Given the description of an element on the screen output the (x, y) to click on. 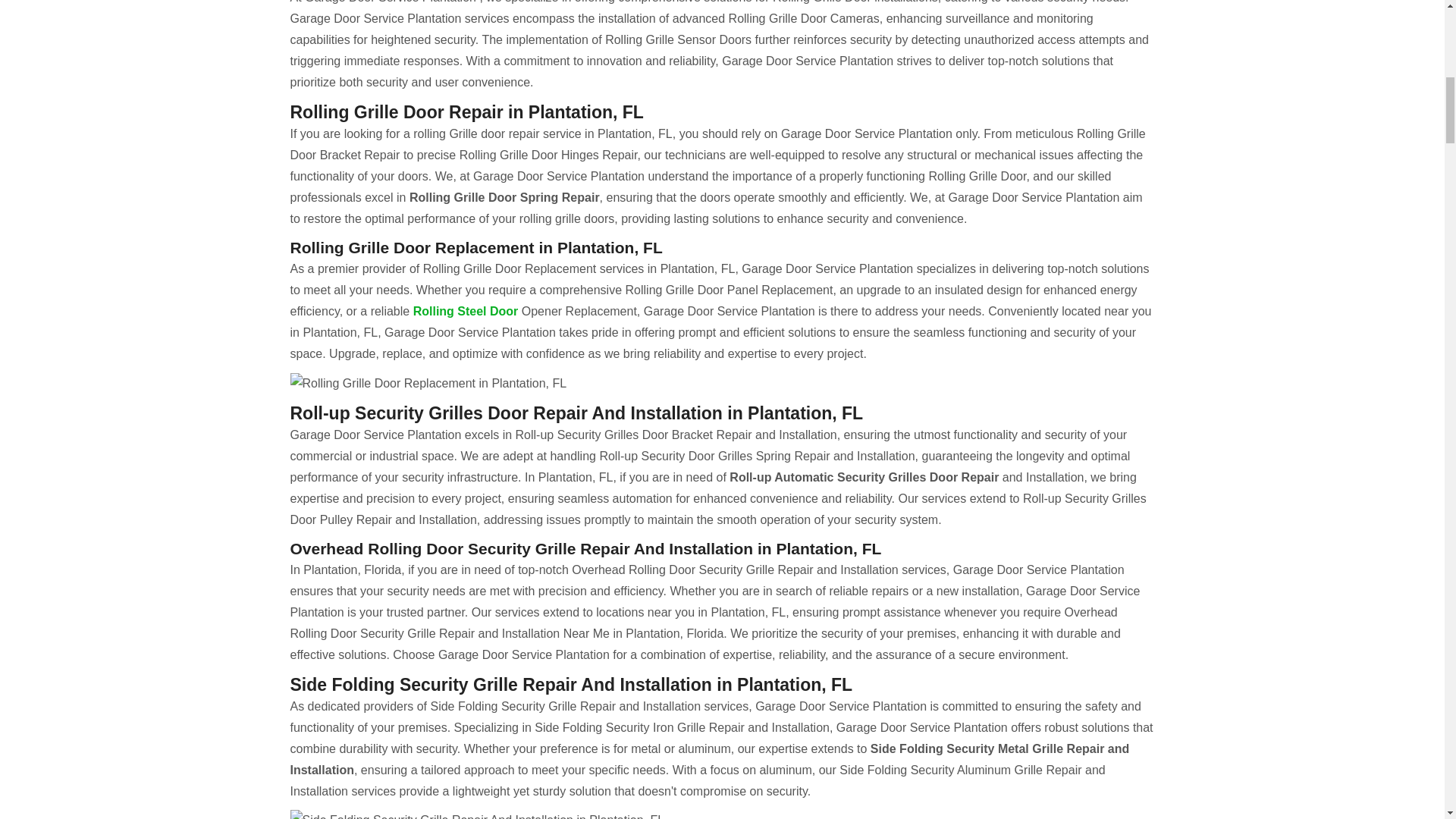
Rolling Steel Door (465, 310)
